Given the description of an element on the screen output the (x, y) to click on. 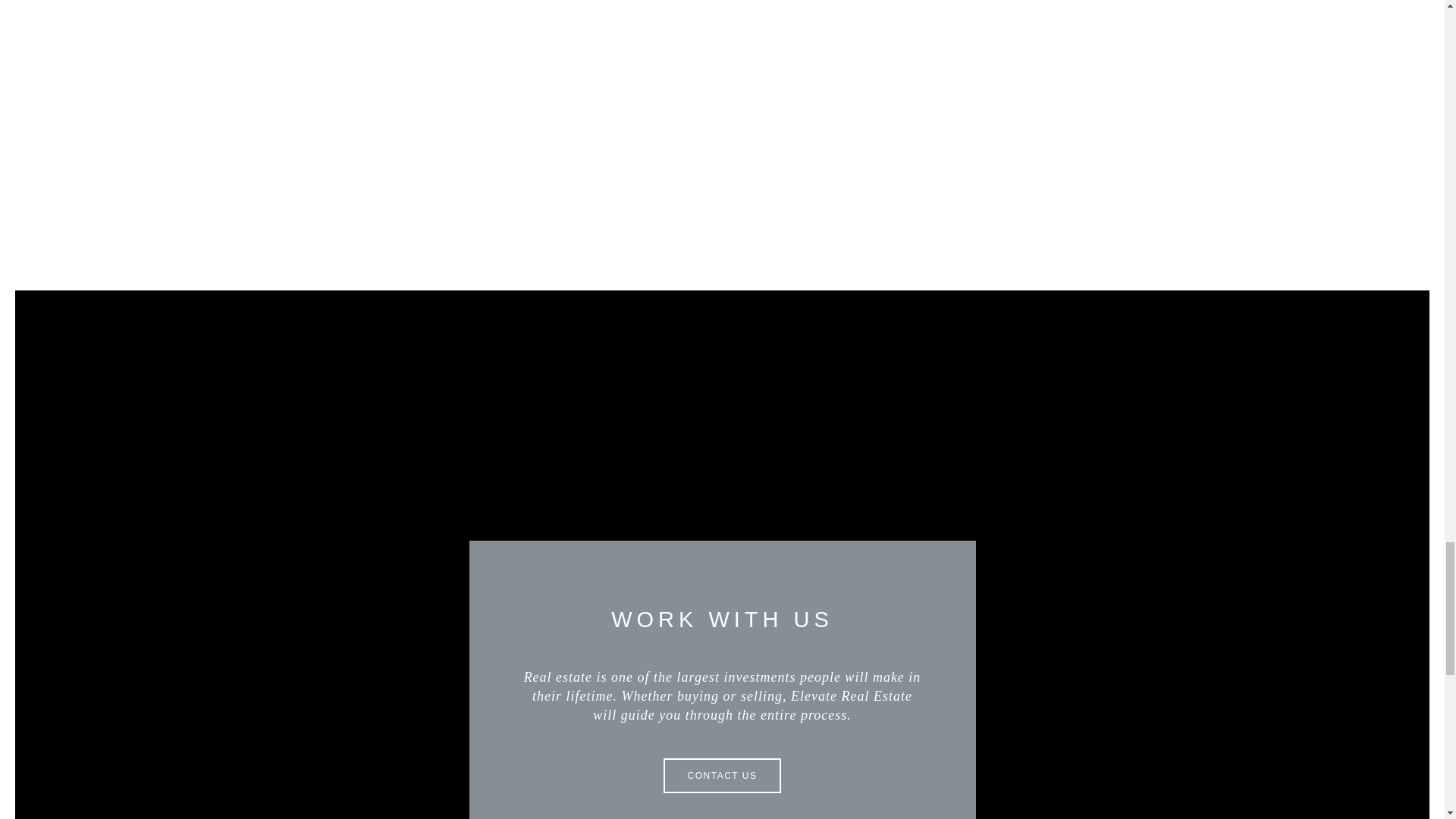
CONTACT US (722, 775)
